Given the description of an element on the screen output the (x, y) to click on. 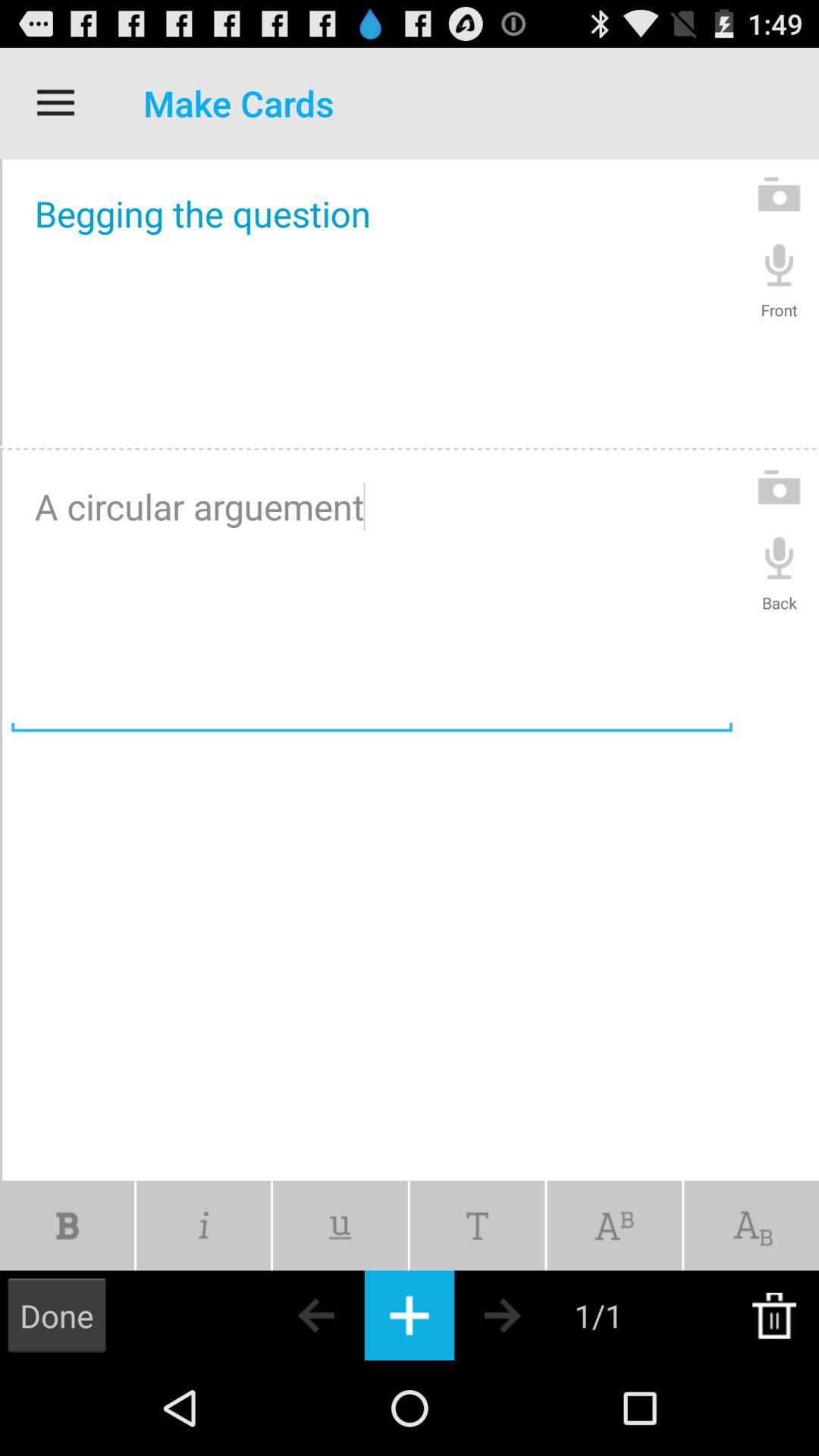
add a new card (409, 1315)
